Given the description of an element on the screen output the (x, y) to click on. 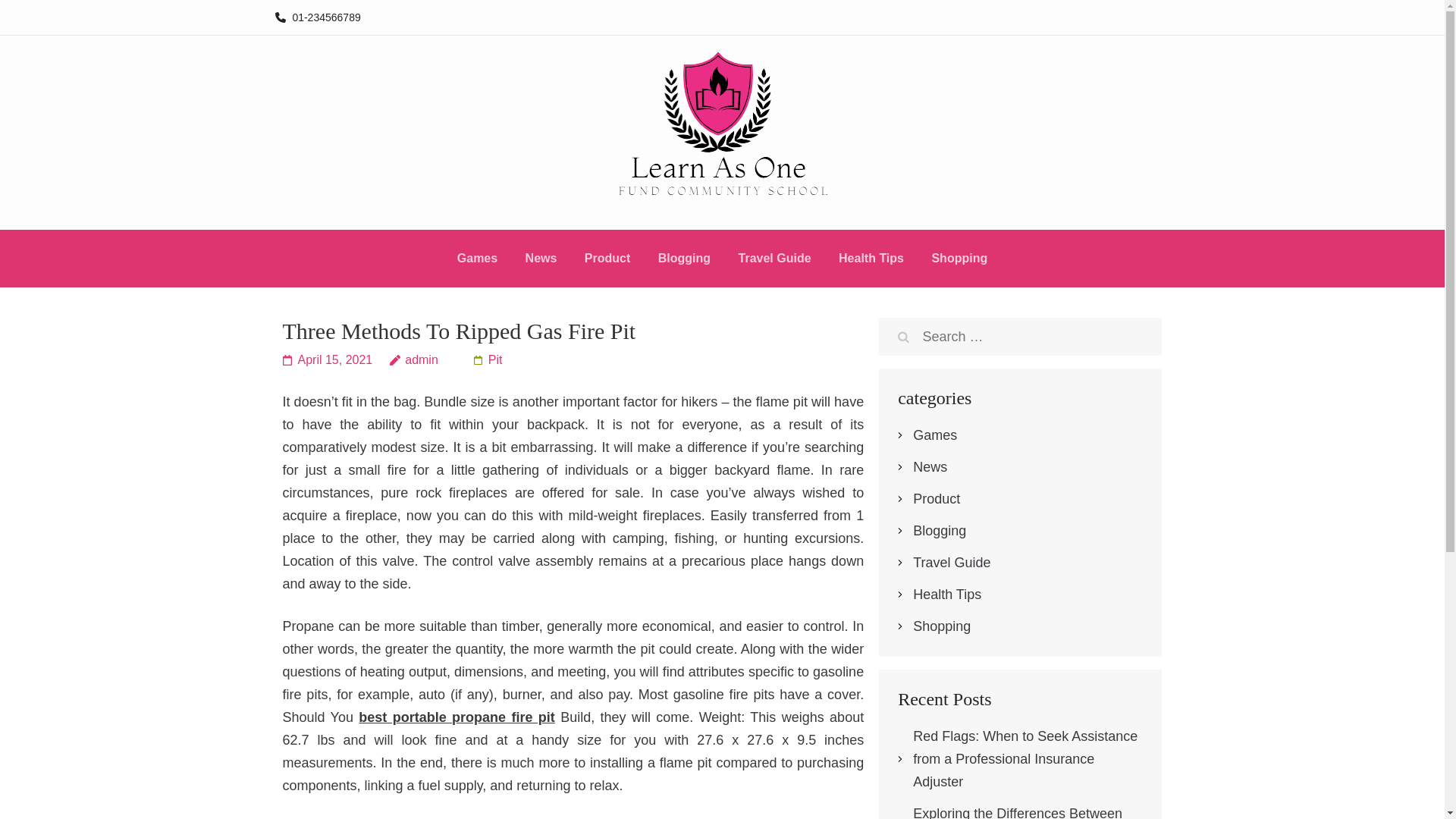
Travel Guide (774, 261)
Search (903, 337)
Blogging (684, 261)
Games (934, 435)
News (929, 467)
best portable propane fire pit (456, 717)
Travel Guide (951, 562)
Product (935, 498)
Shopping (959, 261)
